Given the description of an element on the screen output the (x, y) to click on. 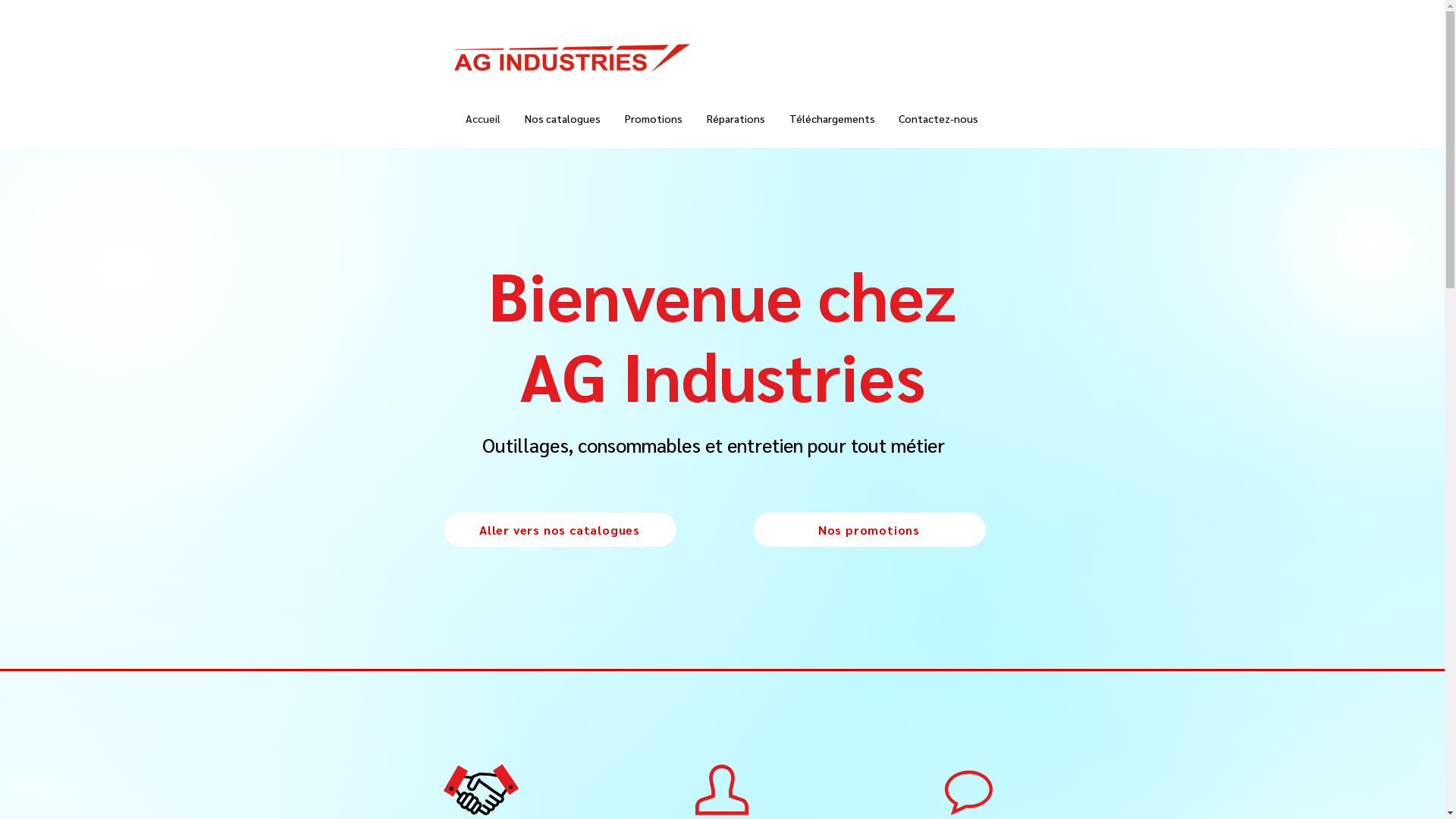
Contactez-nous Element type: text (938, 118)
Aller vers nos catalogues Element type: text (558, 529)
Nos promotions Element type: text (868, 529)
Nos catalogues Element type: text (562, 118)
Promotions Element type: text (653, 118)
Accueil Element type: text (482, 118)
